Given the description of an element on the screen output the (x, y) to click on. 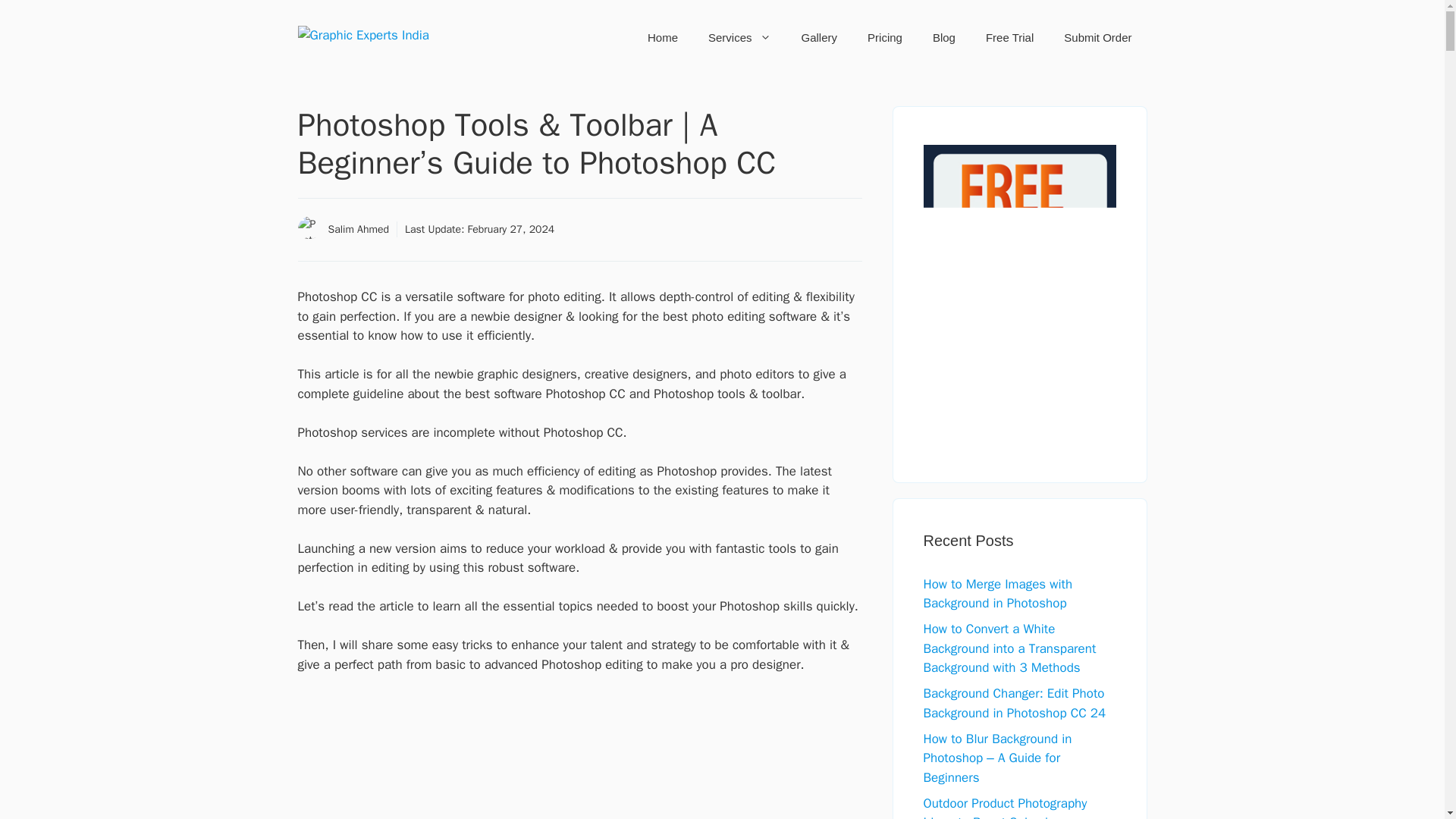
Blog (944, 37)
Home (662, 37)
Gallery (819, 37)
Free Trial (1009, 37)
Submit Order (1097, 37)
Pricing (884, 37)
Services (739, 37)
